Given the description of an element on the screen output the (x, y) to click on. 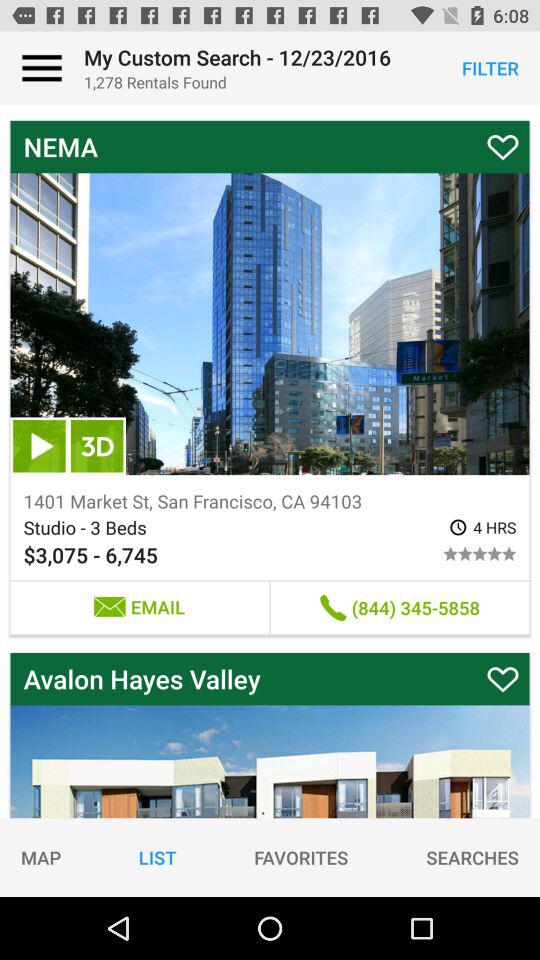
turn off the item to the left of the list item (41, 857)
